Given the description of an element on the screen output the (x, y) to click on. 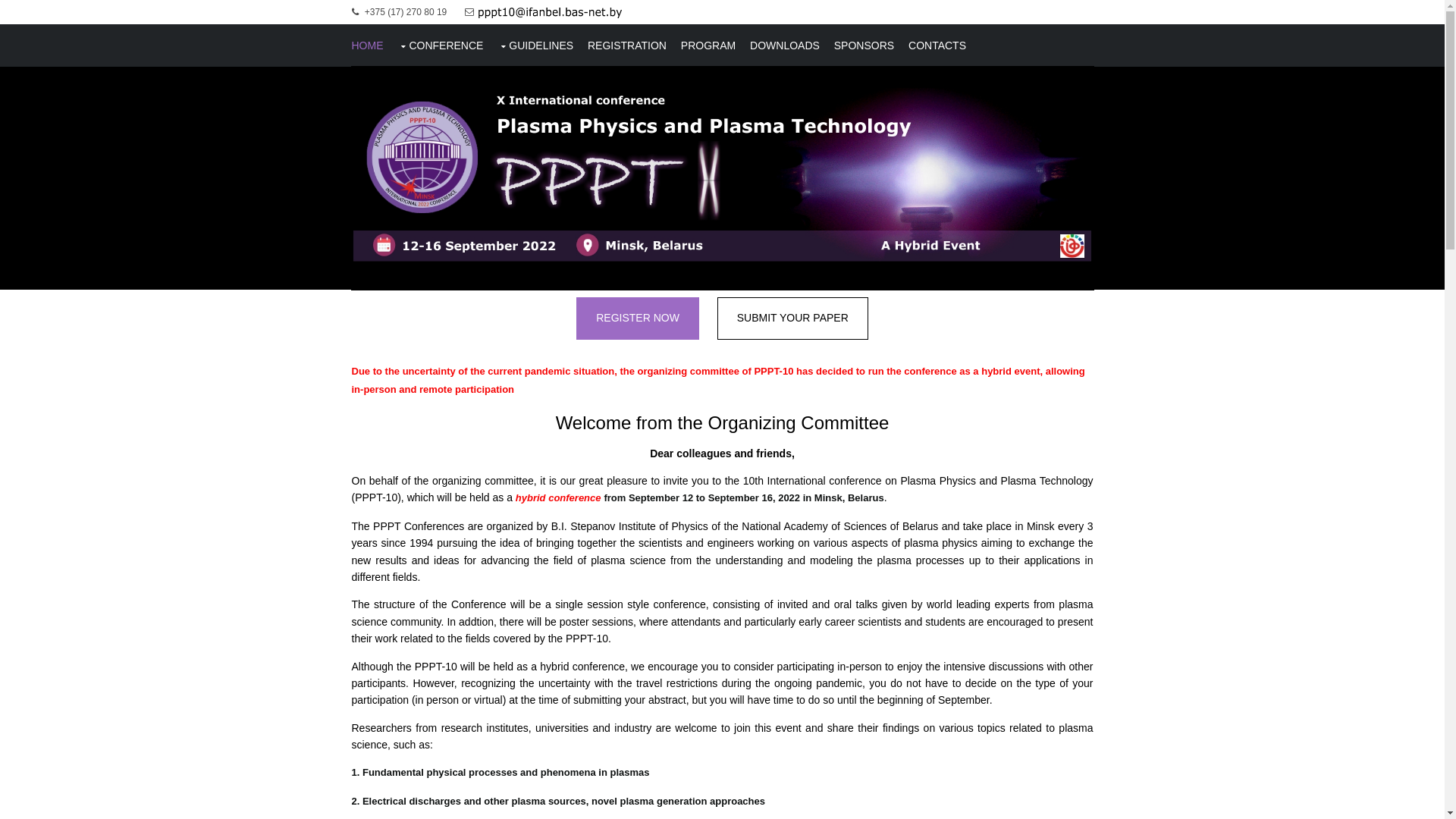
PROGRAM Element type: text (707, 45)
REGISTER NOW Element type: text (637, 318)
HOME Element type: text (367, 45)
CONTACTS Element type: text (937, 45)
CONFERENCE Element type: text (440, 45)
SUBMIT YOUR PAPER Element type: text (792, 318)
GUIDELINES Element type: text (535, 45)
DOWNLOADS Element type: text (784, 45)
SPONSORS Element type: text (864, 45)
REGISTRATION Element type: text (626, 45)
